Given the description of an element on the screen output the (x, y) to click on. 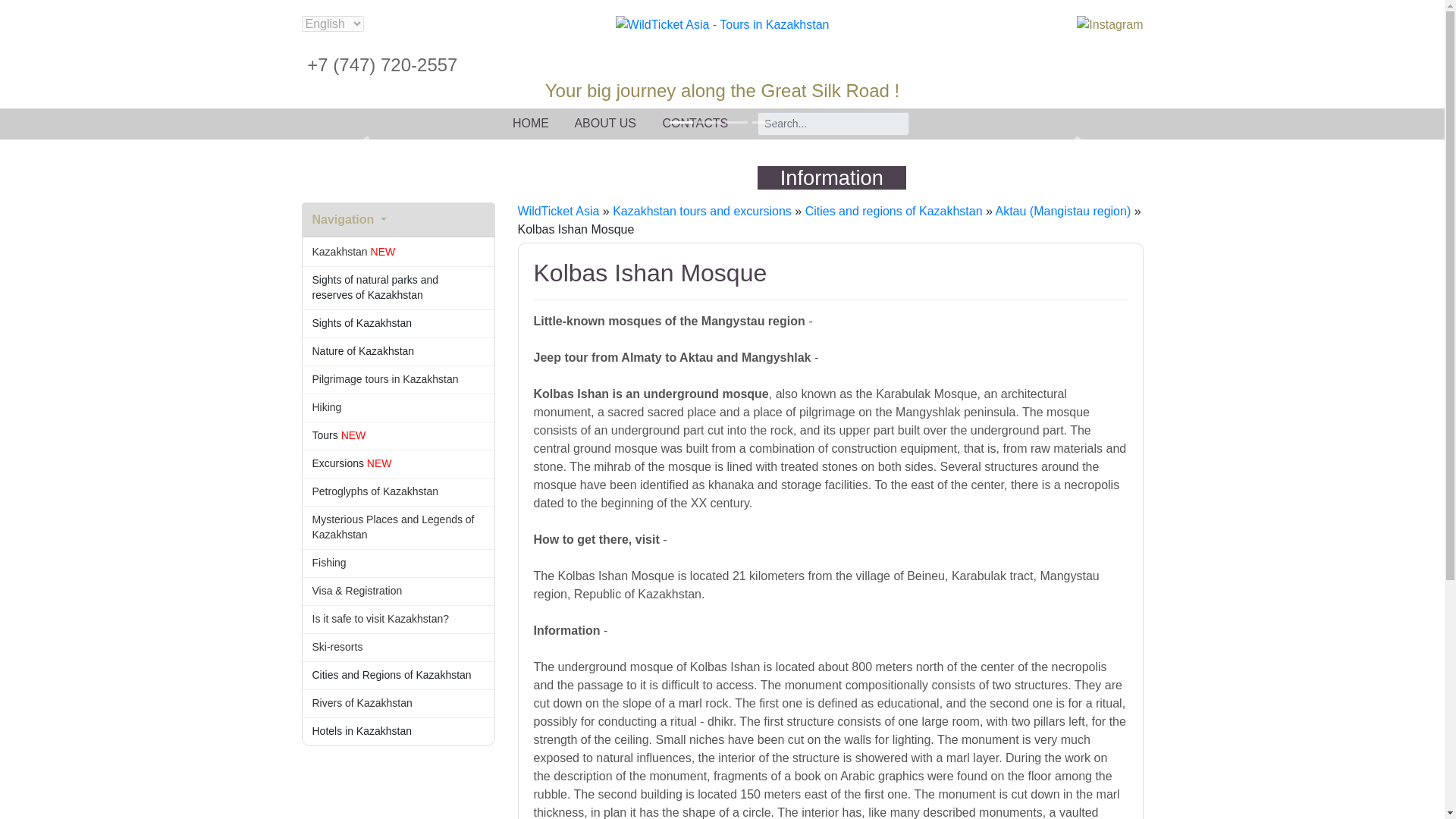
Nature of Kazakhstan (397, 351)
Kazakhstan NEW (397, 251)
Sights of natural parks and reserves of Kazakhstan (397, 287)
Navigation (398, 219)
CONTACTS (695, 123)
Sights of Kazakhstan (397, 323)
HOME (530, 123)
ABOUT US (604, 123)
